Given the description of an element on the screen output the (x, y) to click on. 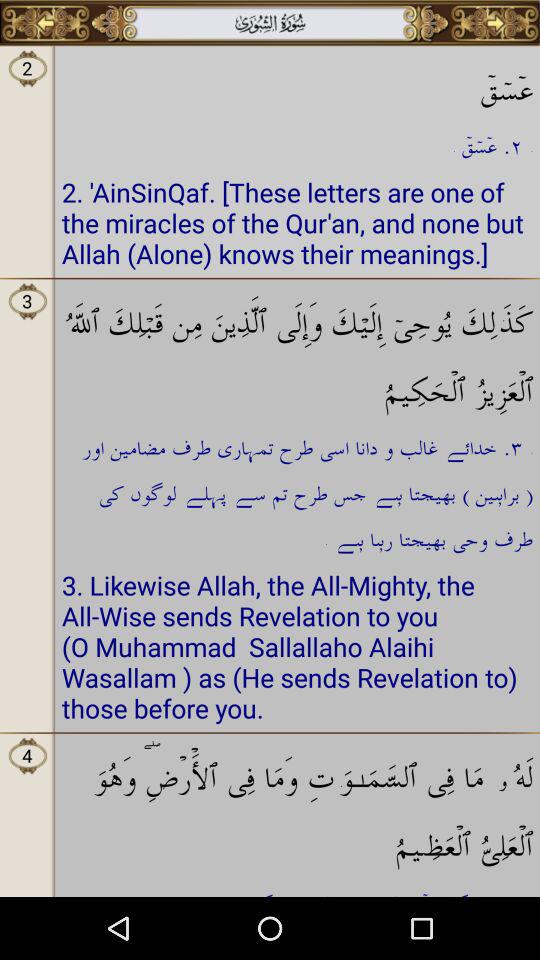
go to previous page (45, 23)
